Given the description of an element on the screen output the (x, y) to click on. 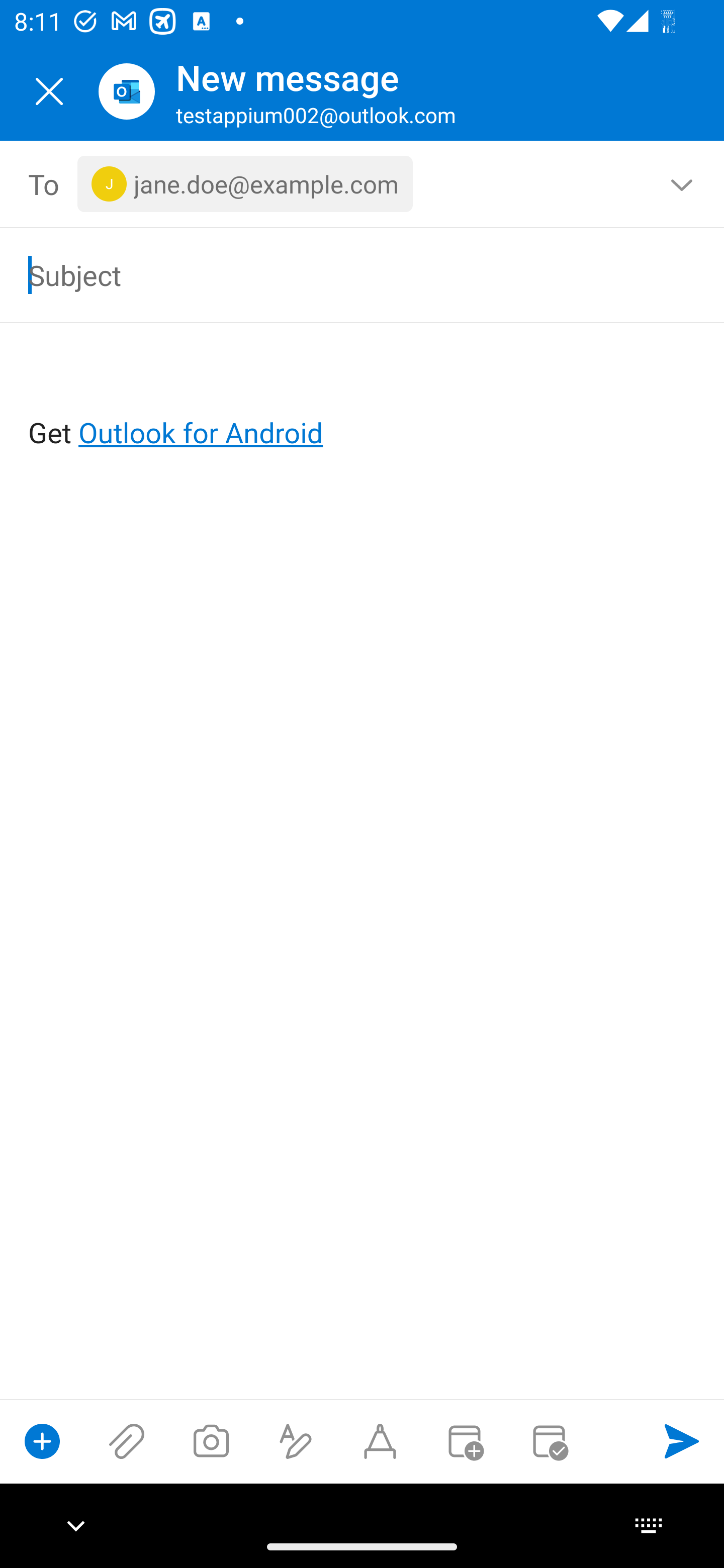
Close (49, 91)
To, 1 recipient <jane.doe@example.com> (362, 184)
Subject (333, 274)


Get Outlook for Android (363, 400)
Show compose options (42, 1440)
Attach files (126, 1440)
Take a photo (210, 1440)
Show formatting options (295, 1440)
Start Ink compose (380, 1440)
Convert to event (464, 1440)
Send availability (548, 1440)
Send (681, 1440)
